Given the description of an element on the screen output the (x, y) to click on. 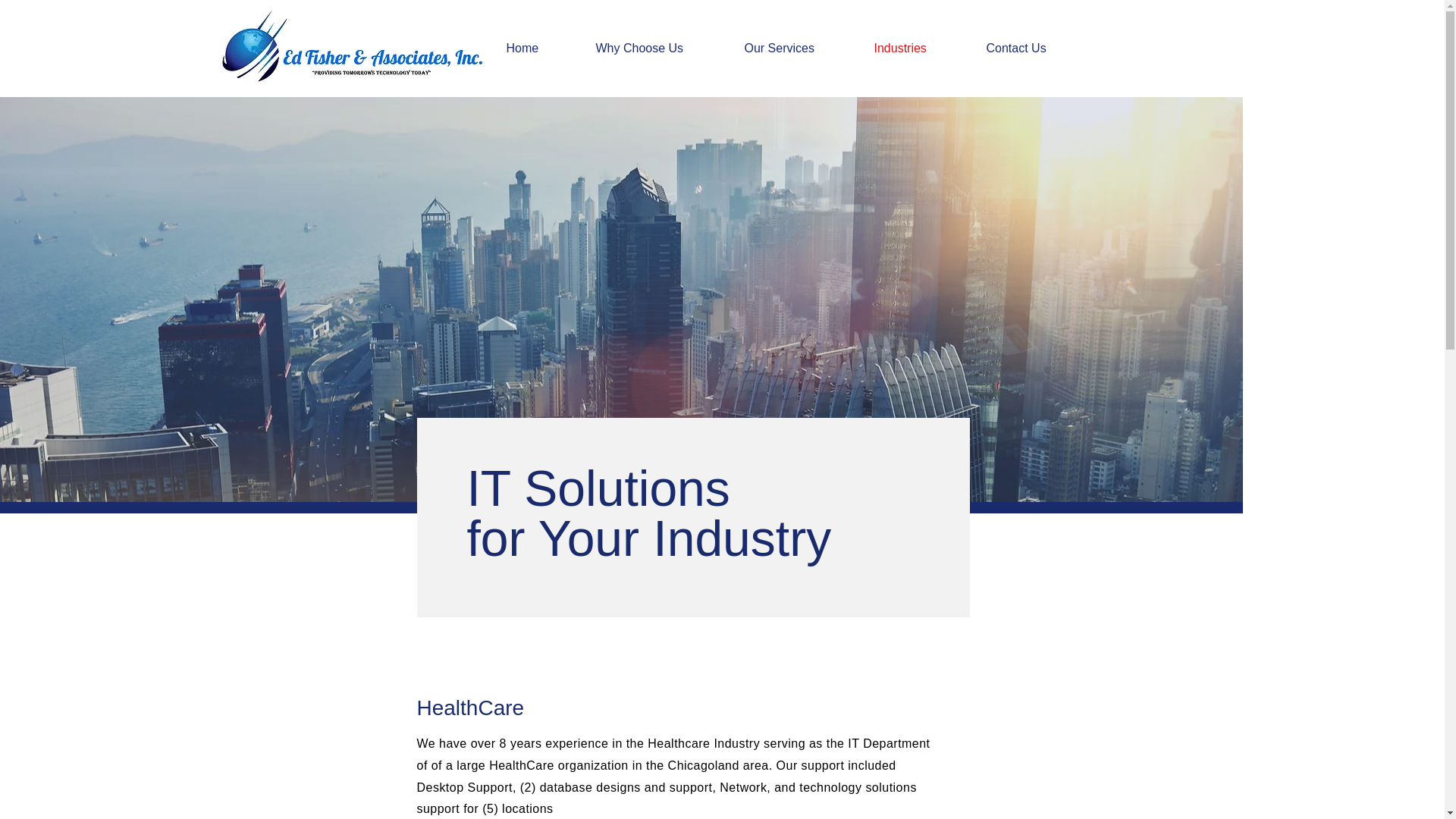
Home (539, 48)
Why Choose Us (657, 48)
Our Services (796, 48)
Contact Us (1034, 48)
Industries (919, 48)
